Given the description of an element on the screen output the (x, y) to click on. 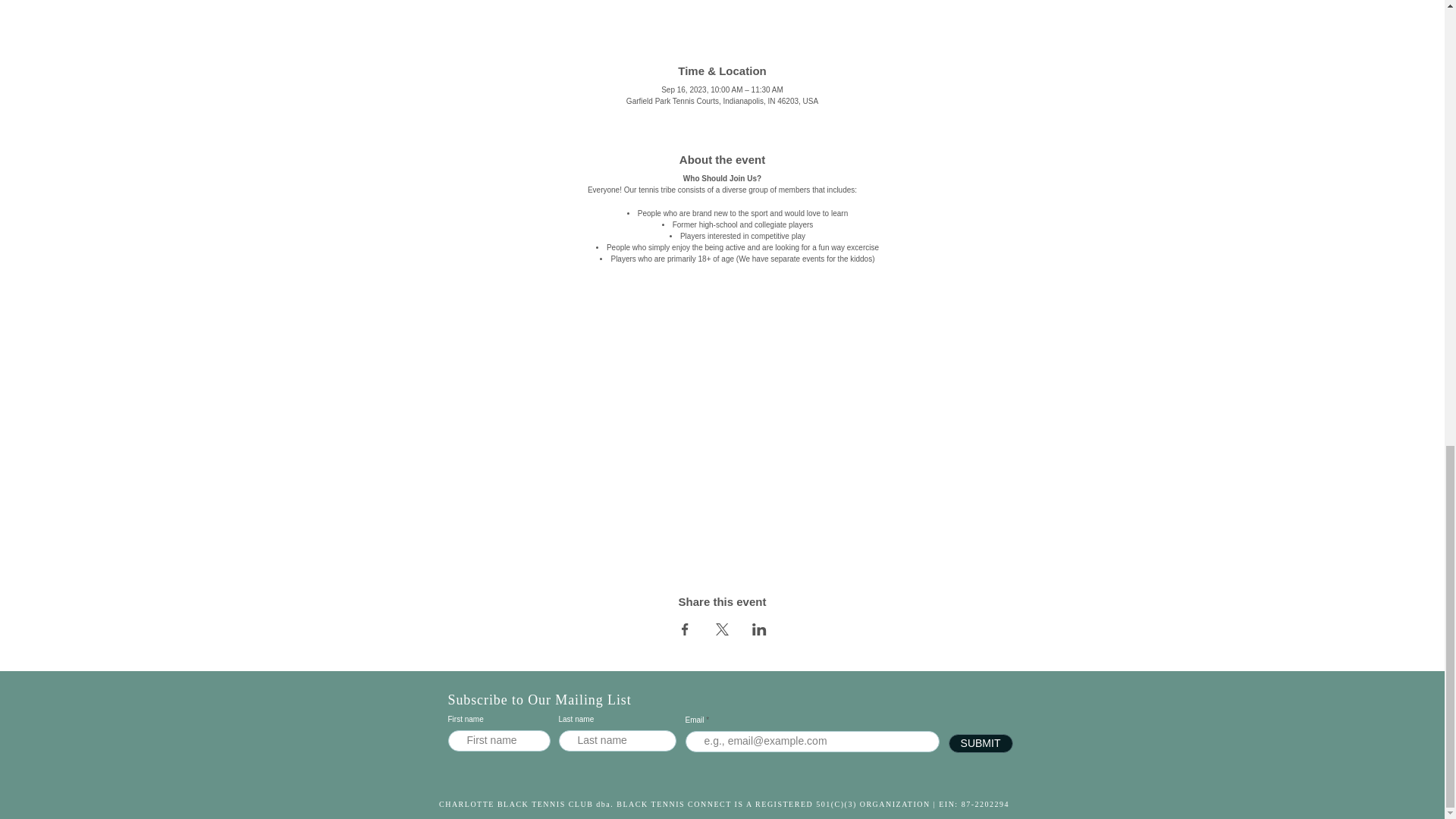
SUBMIT (979, 742)
